Given the description of an element on the screen output the (x, y) to click on. 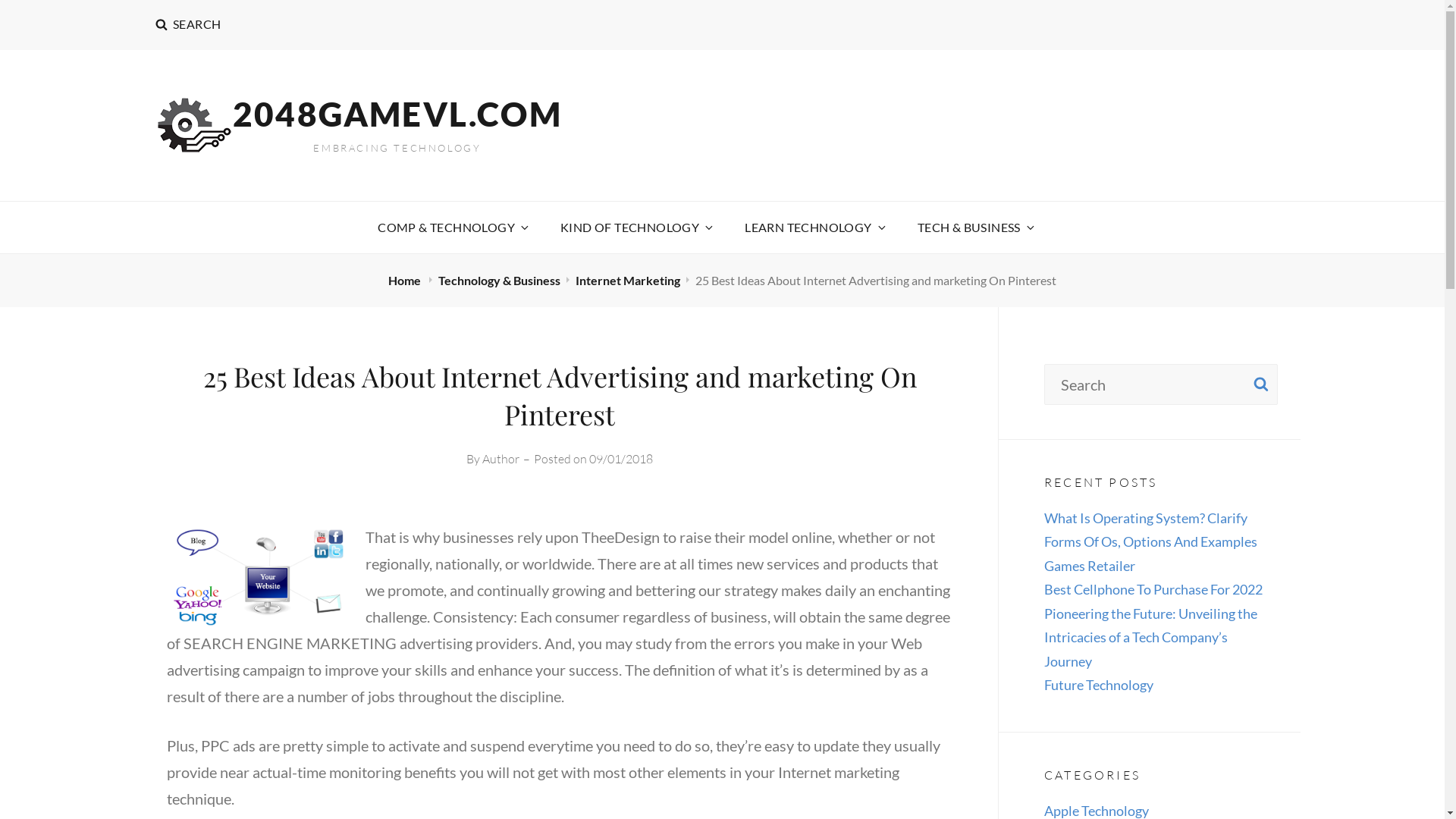
Games Retailer Element type: text (1089, 565)
COMP & TECHNOLOGY Element type: text (452, 227)
KIND OF TECHNOLOGY Element type: text (635, 227)
Author Element type: text (500, 458)
SEARCH Element type: text (188, 25)
SEARCH Element type: text (1260, 384)
Best Cellphone To Purchase For 2022 Element type: text (1153, 588)
Internet Marketing Element type: text (627, 280)
09/01/2018 Element type: text (620, 458)
Technology & Business Element type: text (499, 280)
2048GAMEVL.COM Element type: text (396, 113)
Home Element type: text (405, 280)
TECH & BUSINESS Element type: text (975, 227)
LEARN TECHNOLOGY Element type: text (813, 227)
Future Technology Element type: text (1098, 684)
